Given the description of an element on the screen output the (x, y) to click on. 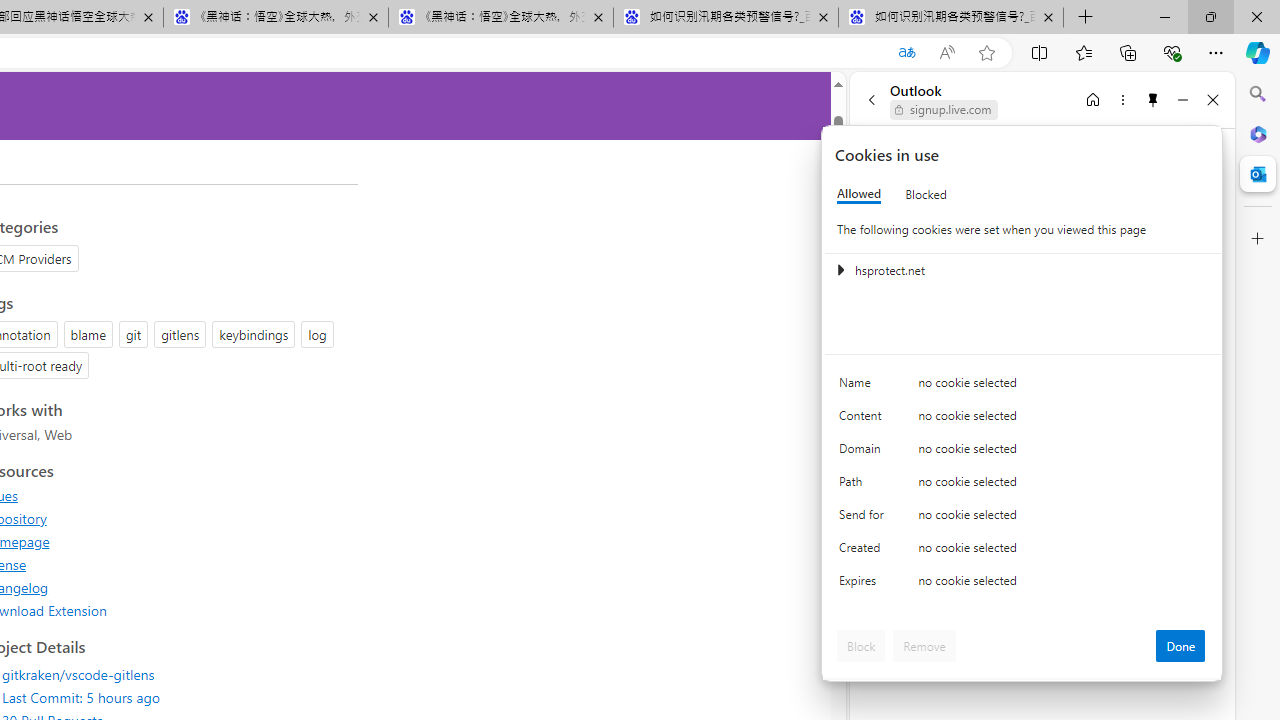
Send for (864, 518)
Domain (864, 452)
Created (864, 552)
no cookie selected (1062, 585)
Content (864, 420)
Block (861, 645)
Class: c0153 c0157 (1023, 584)
Allowed (859, 193)
Remove (924, 645)
Expires (864, 585)
Class: c0153 c0157 c0154 (1023, 386)
Done (1179, 645)
Name (864, 387)
Blocked (925, 193)
Path (864, 485)
